Given the description of an element on the screen output the (x, y) to click on. 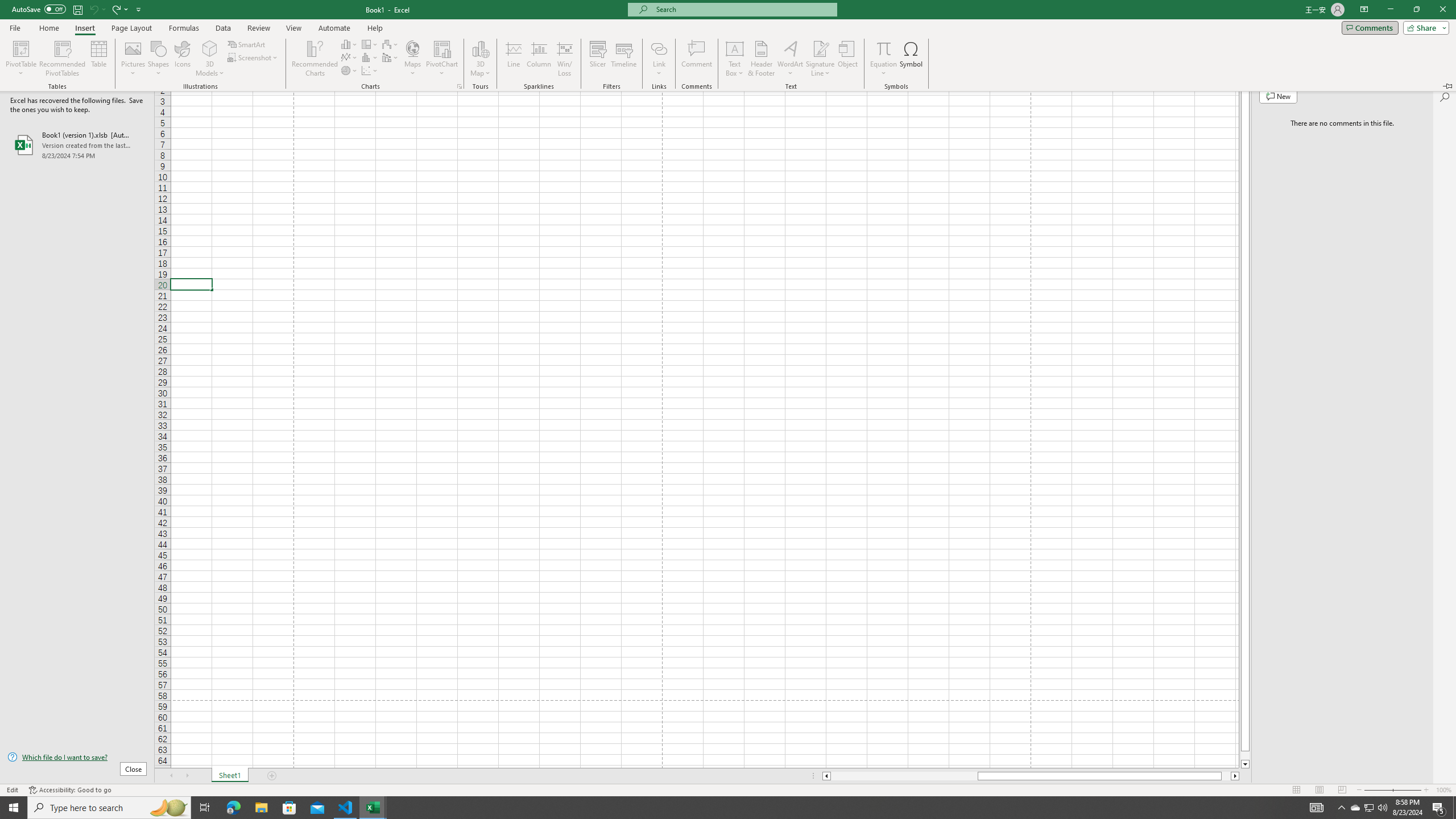
Microsoft Store (289, 807)
Q2790: 100% (1382, 807)
Visual Studio Code - 1 running window (345, 807)
